Given the description of an element on the screen output the (x, y) to click on. 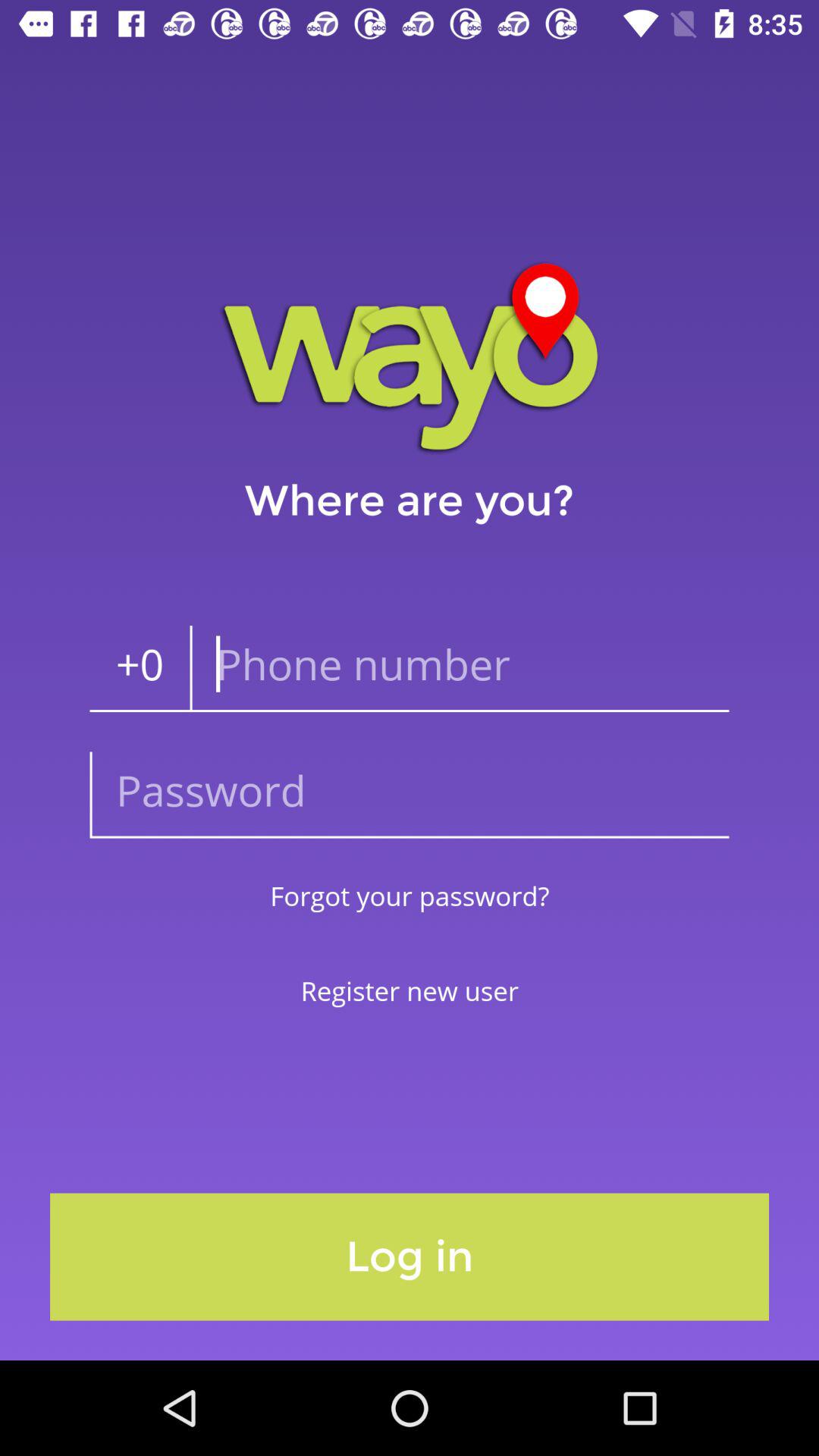
select icon next to +0 icon (459, 668)
